Given the description of an element on the screen output the (x, y) to click on. 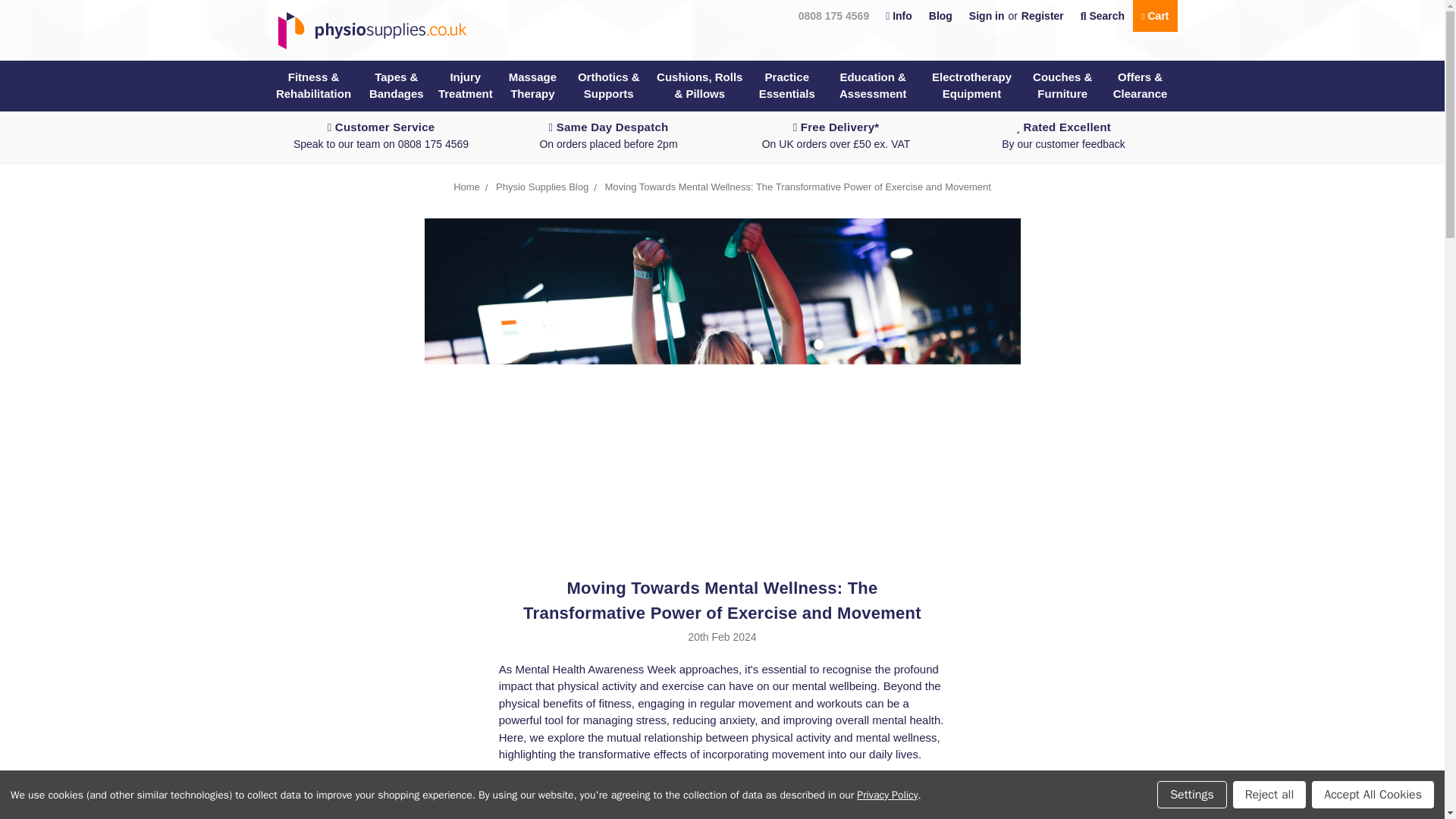
Register (1042, 15)
Search (1101, 15)
Blog (940, 15)
Info (898, 15)
Cart (1154, 15)
0808 175 4569 (833, 15)
Physio Supplies (366, 30)
Sign in (986, 15)
